Given the description of an element on the screen output the (x, y) to click on. 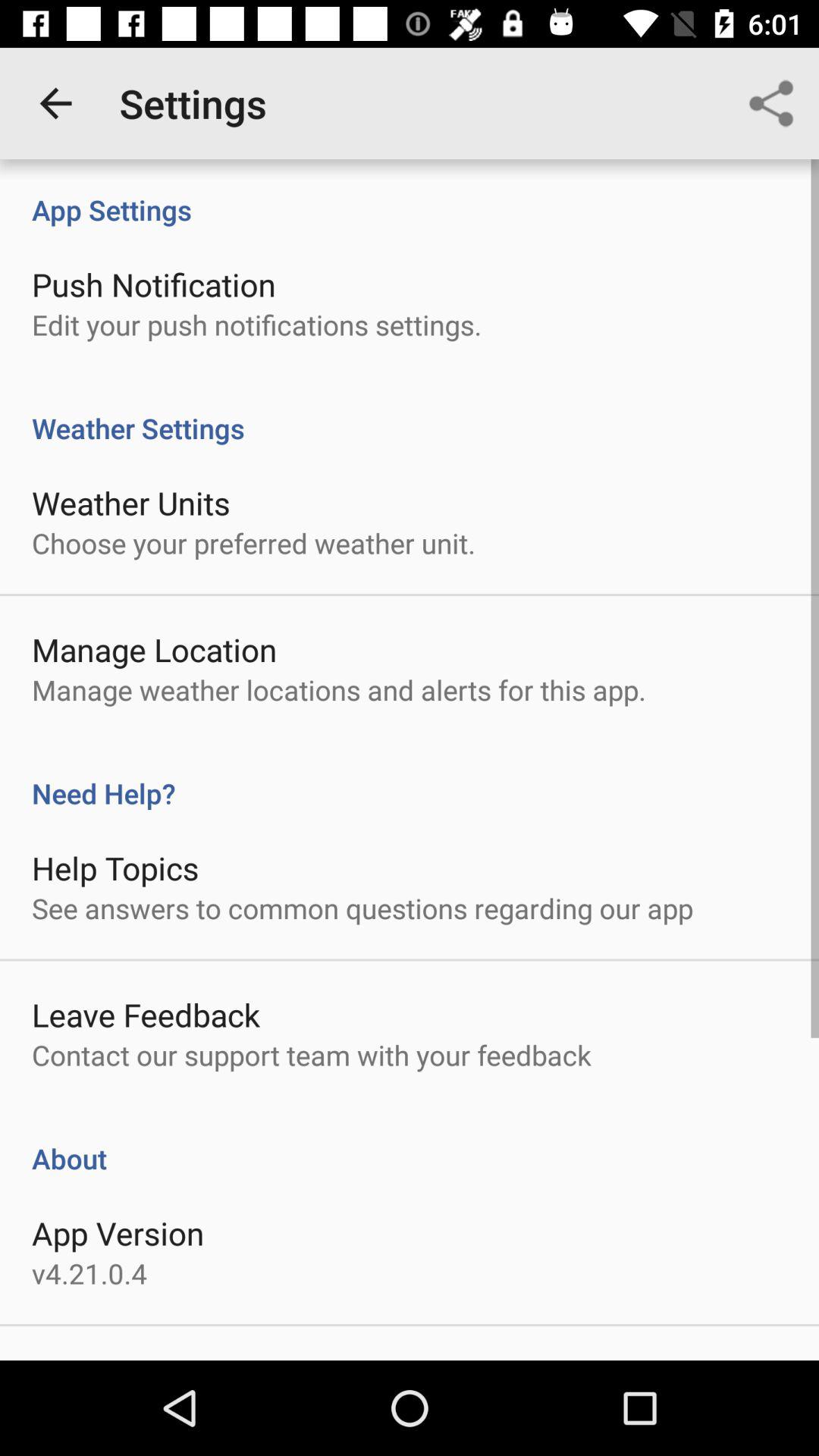
press icon above manage weather locations item (153, 649)
